Given the description of an element on the screen output the (x, y) to click on. 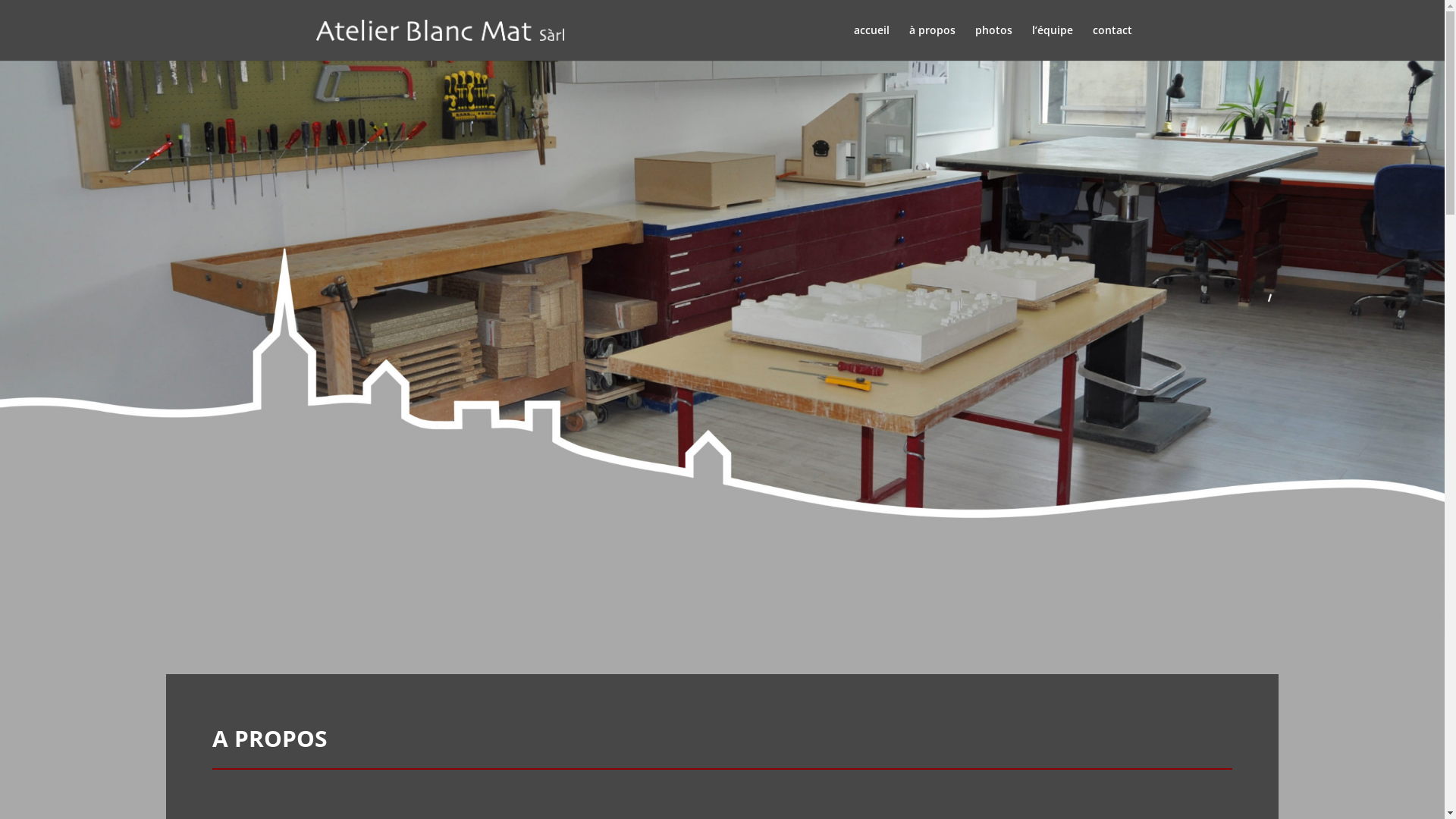
contact Element type: text (1111, 42)
accueil Element type: text (871, 42)
photos Element type: text (993, 42)
